Given the description of an element on the screen output the (x, y) to click on. 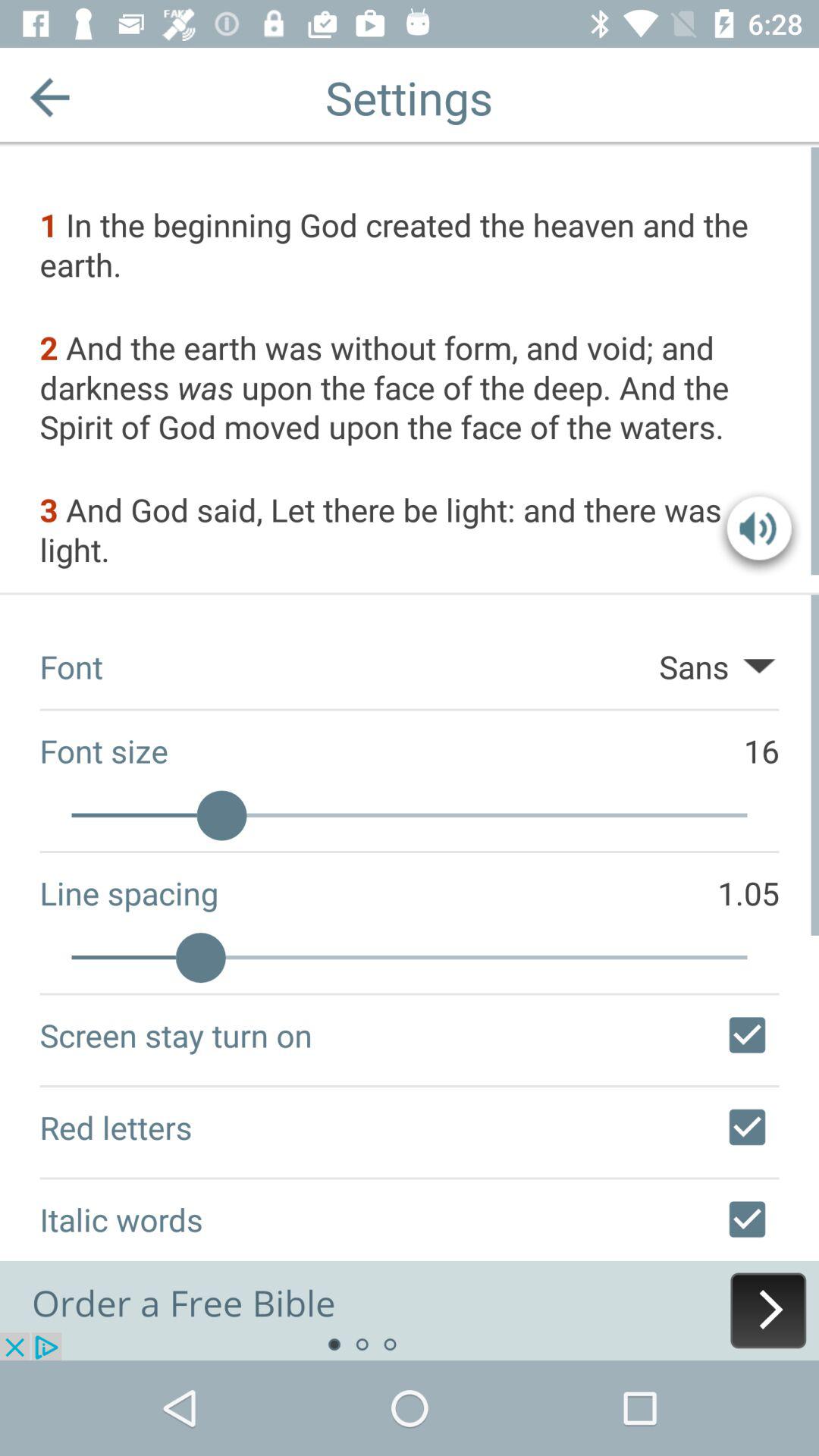
toggle screen stay turn on setting (747, 1034)
